Given the description of an element on the screen output the (x, y) to click on. 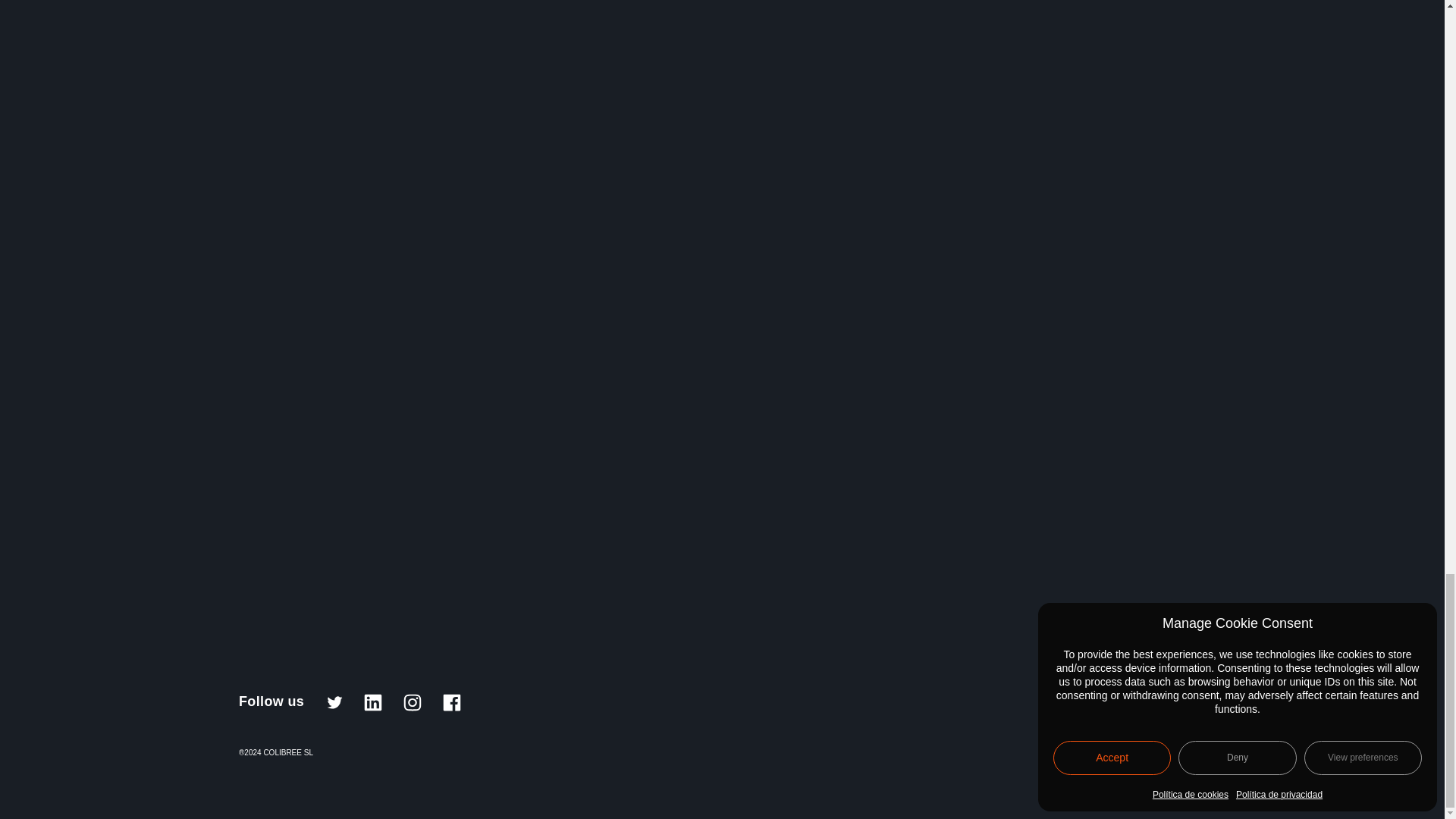
Linkedin (372, 702)
Facebook (451, 702)
Instagram (412, 702)
Twitter (334, 702)
